Given the description of an element on the screen output the (x, y) to click on. 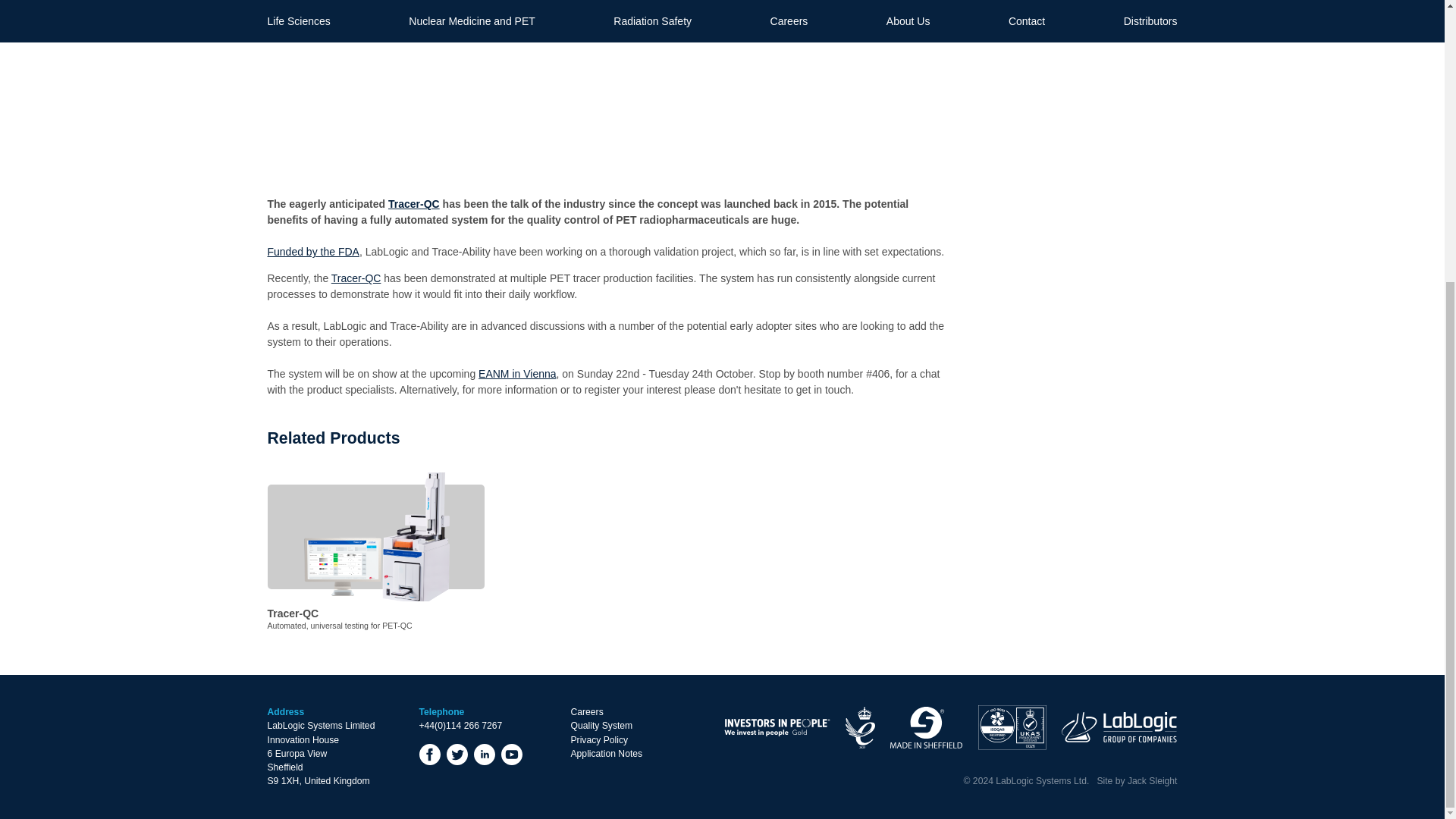
EANM in Vienna (517, 373)
Funded by the FDA (375, 558)
Tracer-QC (312, 251)
Tracer-QC (356, 277)
